Given the description of an element on the screen output the (x, y) to click on. 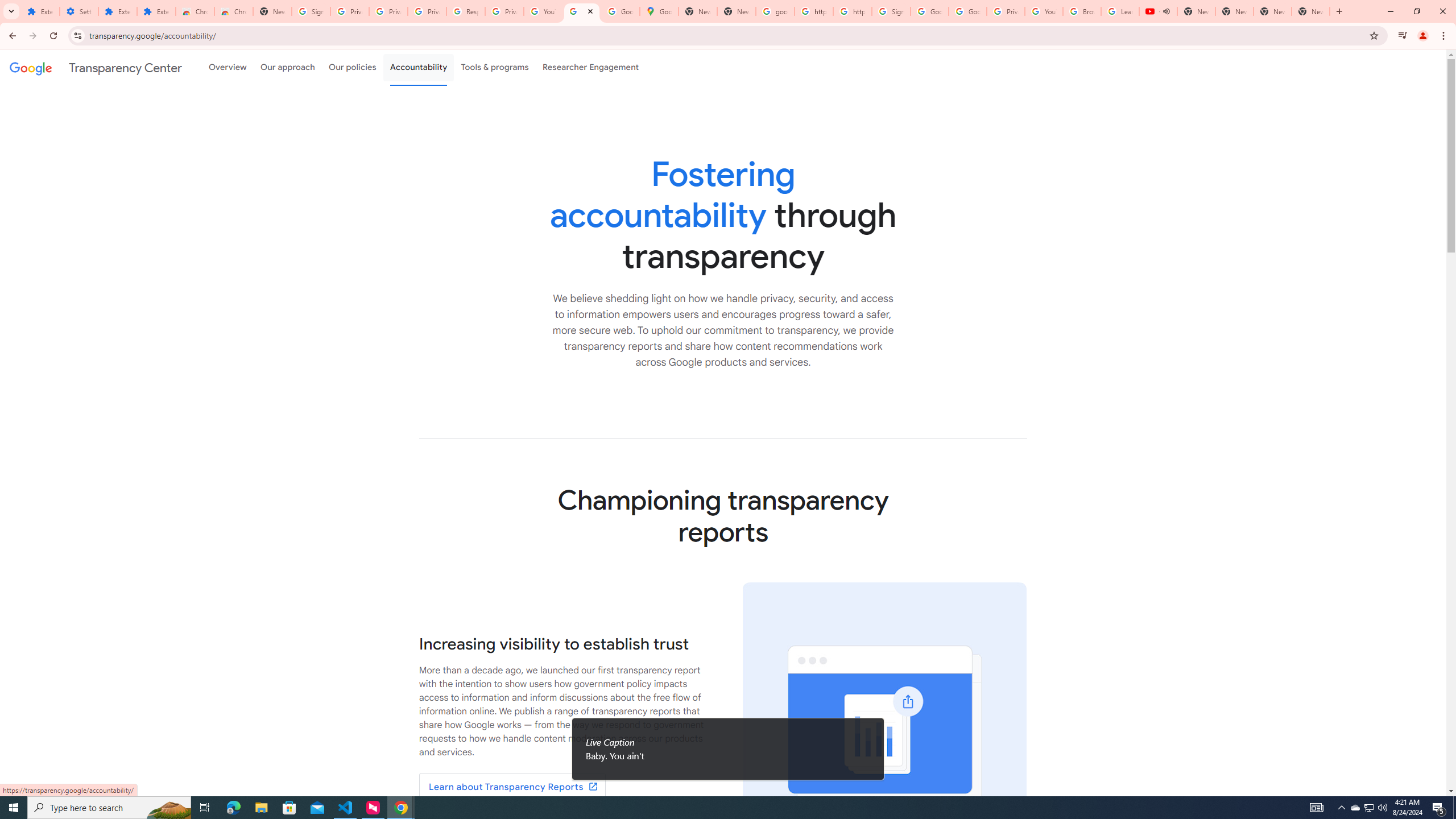
Settings (79, 11)
Extensions (156, 11)
Extensions (40, 11)
https://scholar.google.com/ (852, 11)
Browse Chrome as a guest - Computer - Google Chrome Help (1082, 11)
Mute tab (1165, 10)
YouTube (1043, 11)
